Given the description of an element on the screen output the (x, y) to click on. 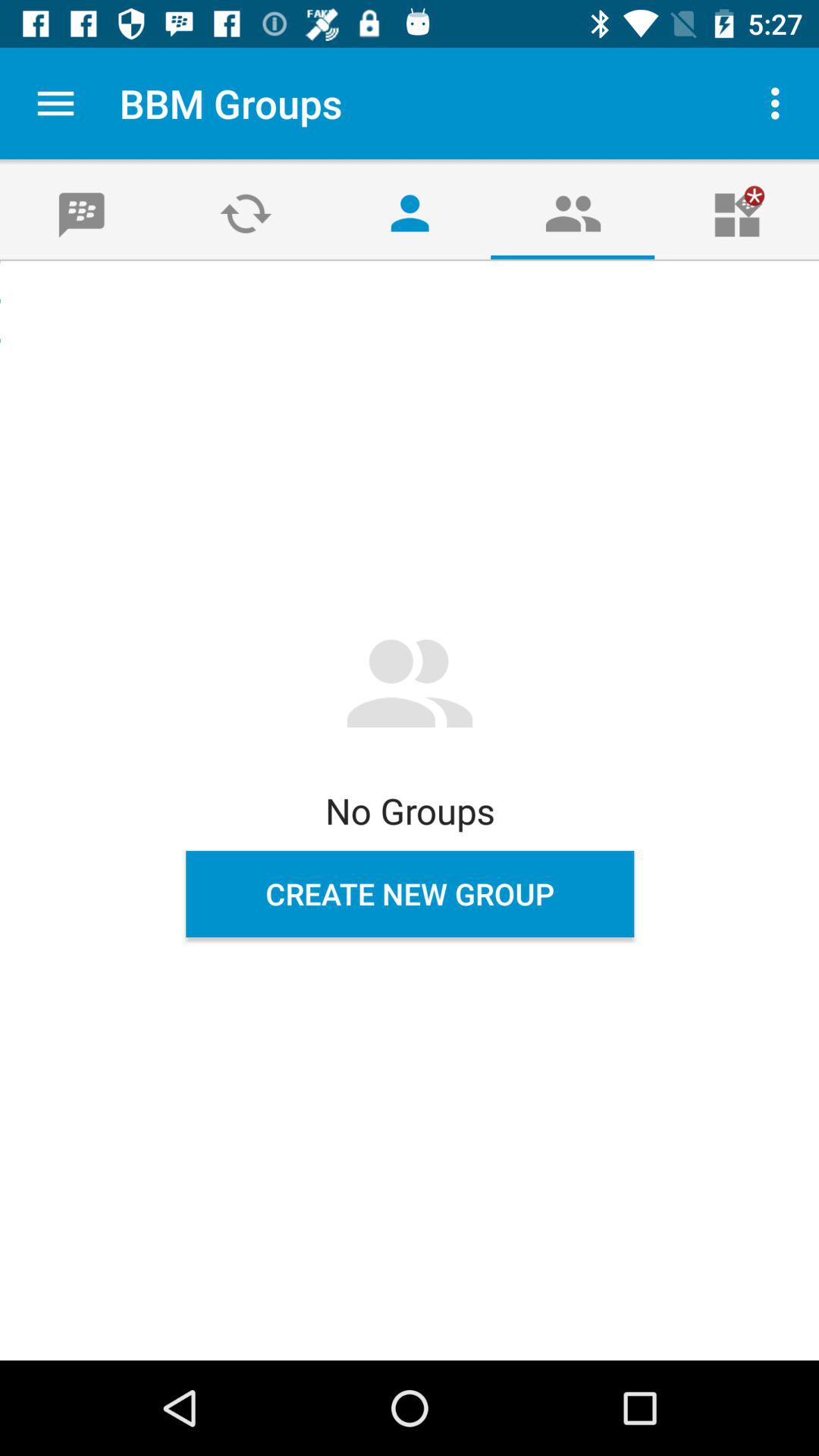
select the item next to the bbm groups (55, 103)
